Given the description of an element on the screen output the (x, y) to click on. 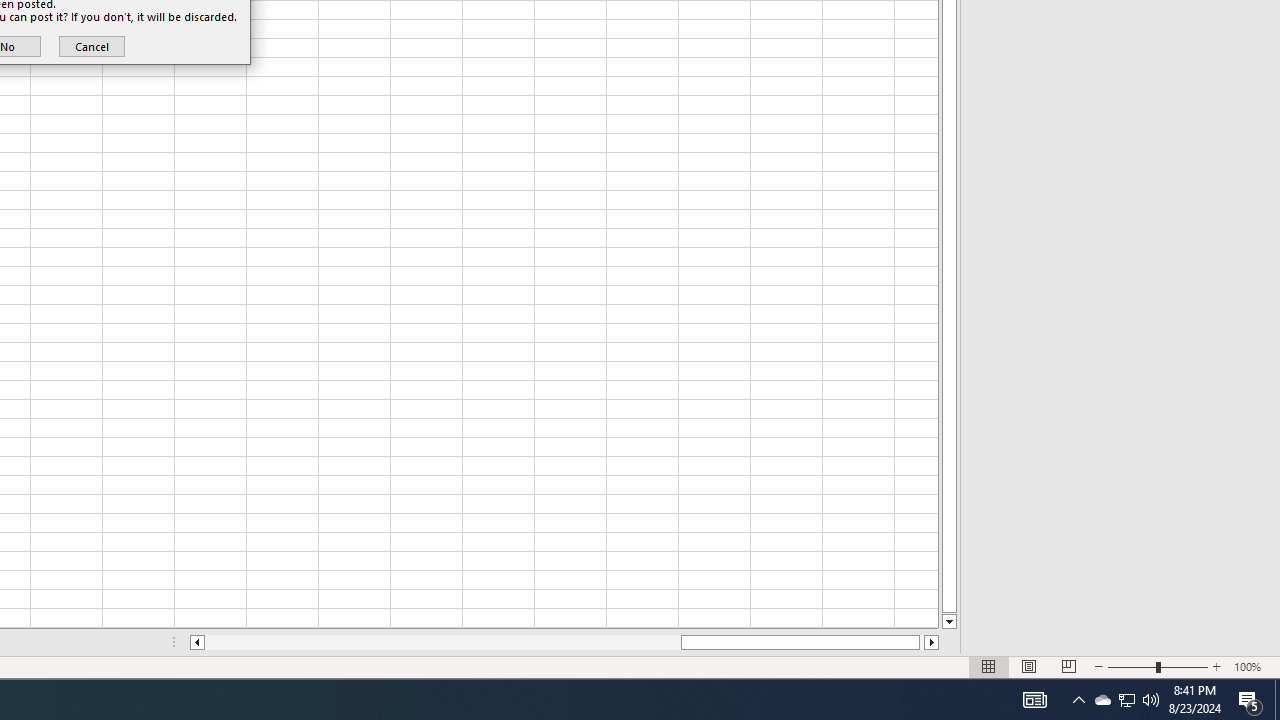
Normal (988, 667)
Page left (442, 642)
Action Center, 5 new notifications (1250, 699)
Page Break Preview (1069, 667)
Page right (922, 642)
Column right (932, 642)
Class: NetUIScrollBar (564, 642)
Line down (948, 622)
AutomationID: 4105 (1034, 699)
Q2790: 100% (1151, 699)
Show desktop (1277, 699)
Zoom Out (1131, 667)
Column left (196, 642)
Notification Chevron (1078, 699)
